Given the description of an element on the screen output the (x, y) to click on. 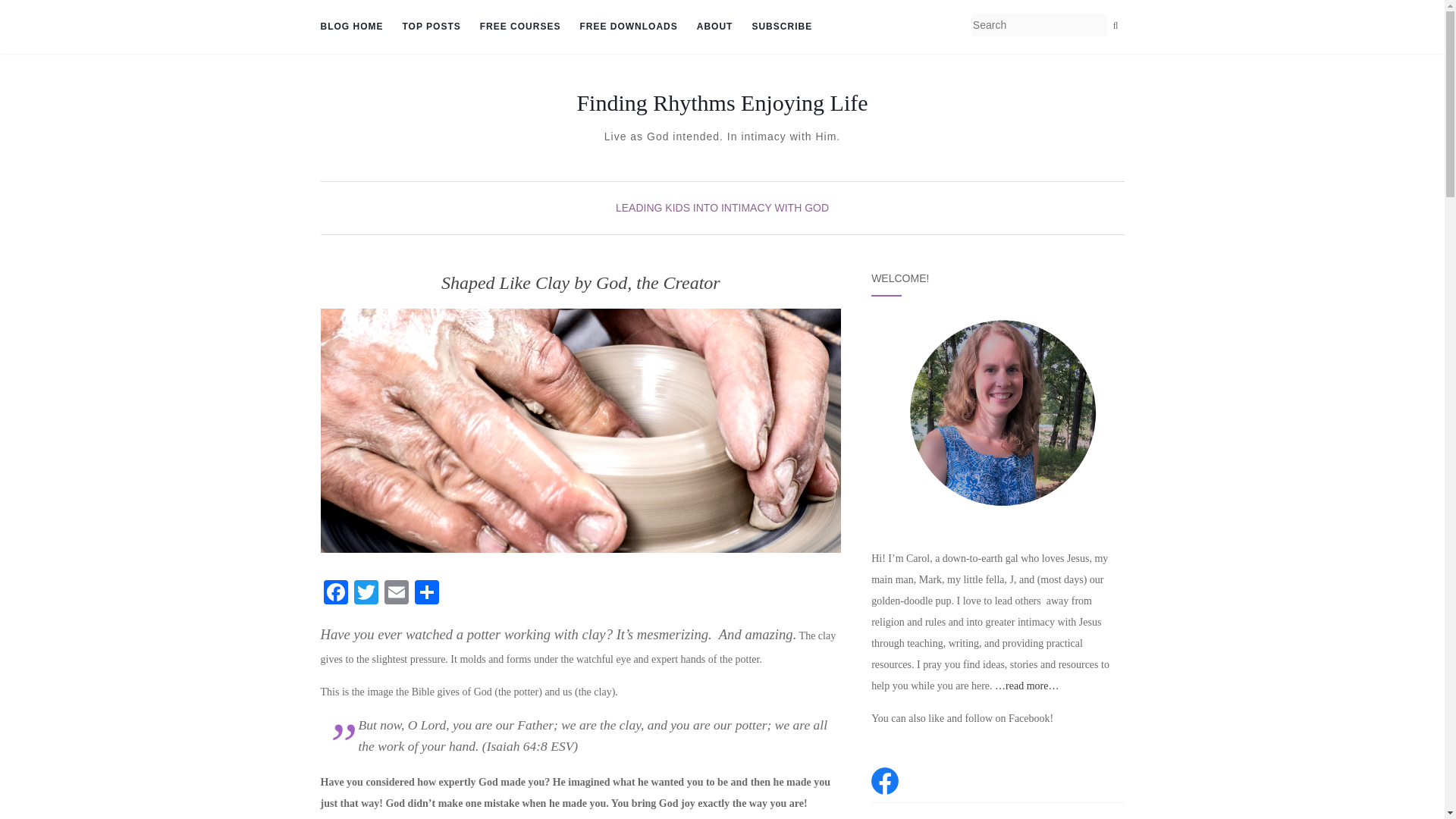
Twitter (365, 593)
Blog Home (351, 27)
Shaped Like Clay by God, the Creator (580, 430)
Subscribe (781, 27)
Finding Rhythms Enjoying Life (721, 102)
Facebook (335, 593)
Facebook (335, 593)
SUBSCRIBE (781, 27)
FREE DOWNLOADS (628, 27)
Twitter (365, 593)
